Given the description of an element on the screen output the (x, y) to click on. 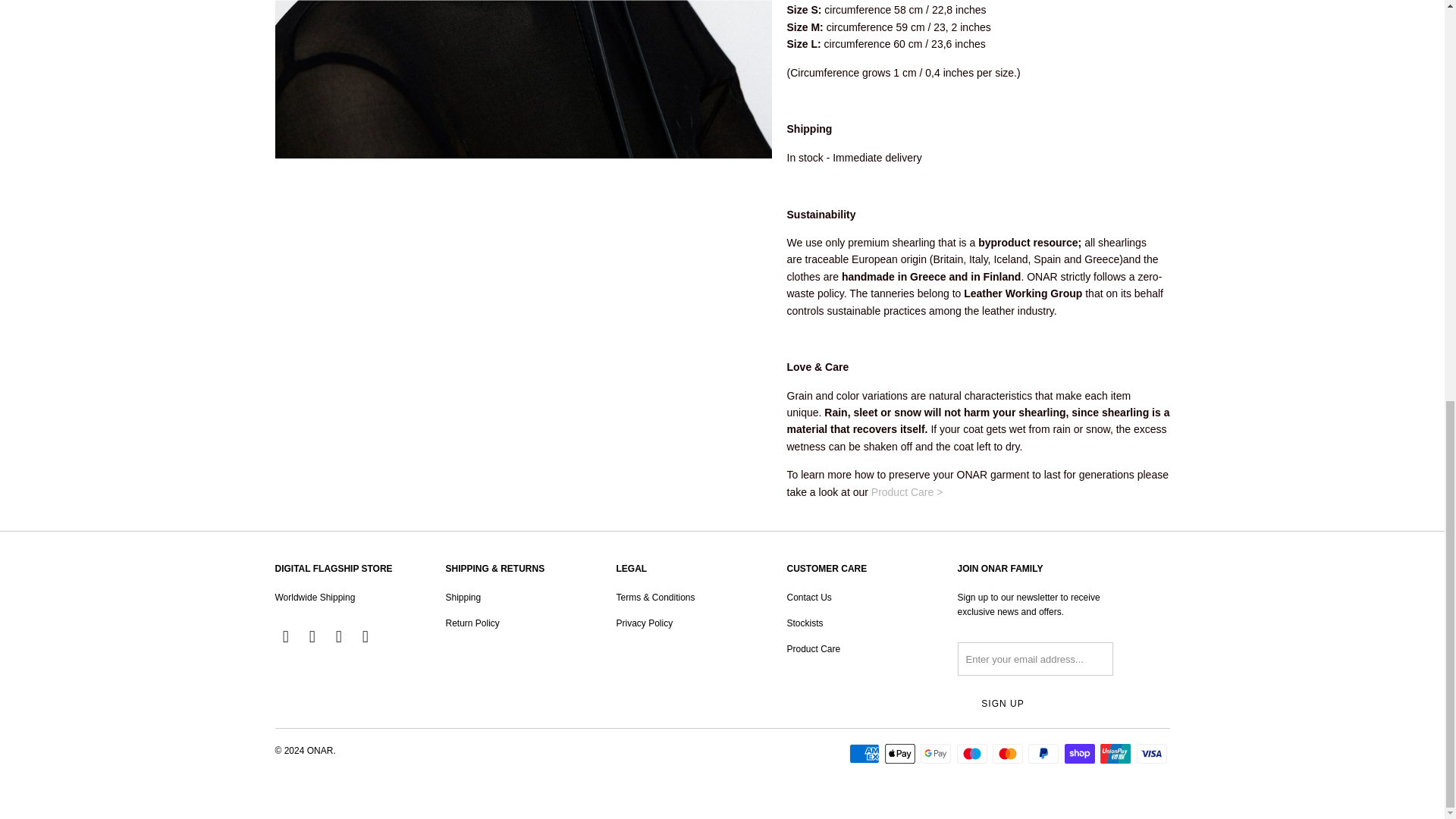
ONAR  on Facebook (312, 637)
ONAR  on Instagram (339, 637)
Email ONAR  (366, 637)
Product Care (906, 491)
Sign Up (1002, 703)
ONAR  on Twitter (286, 637)
